Given the description of an element on the screen output the (x, y) to click on. 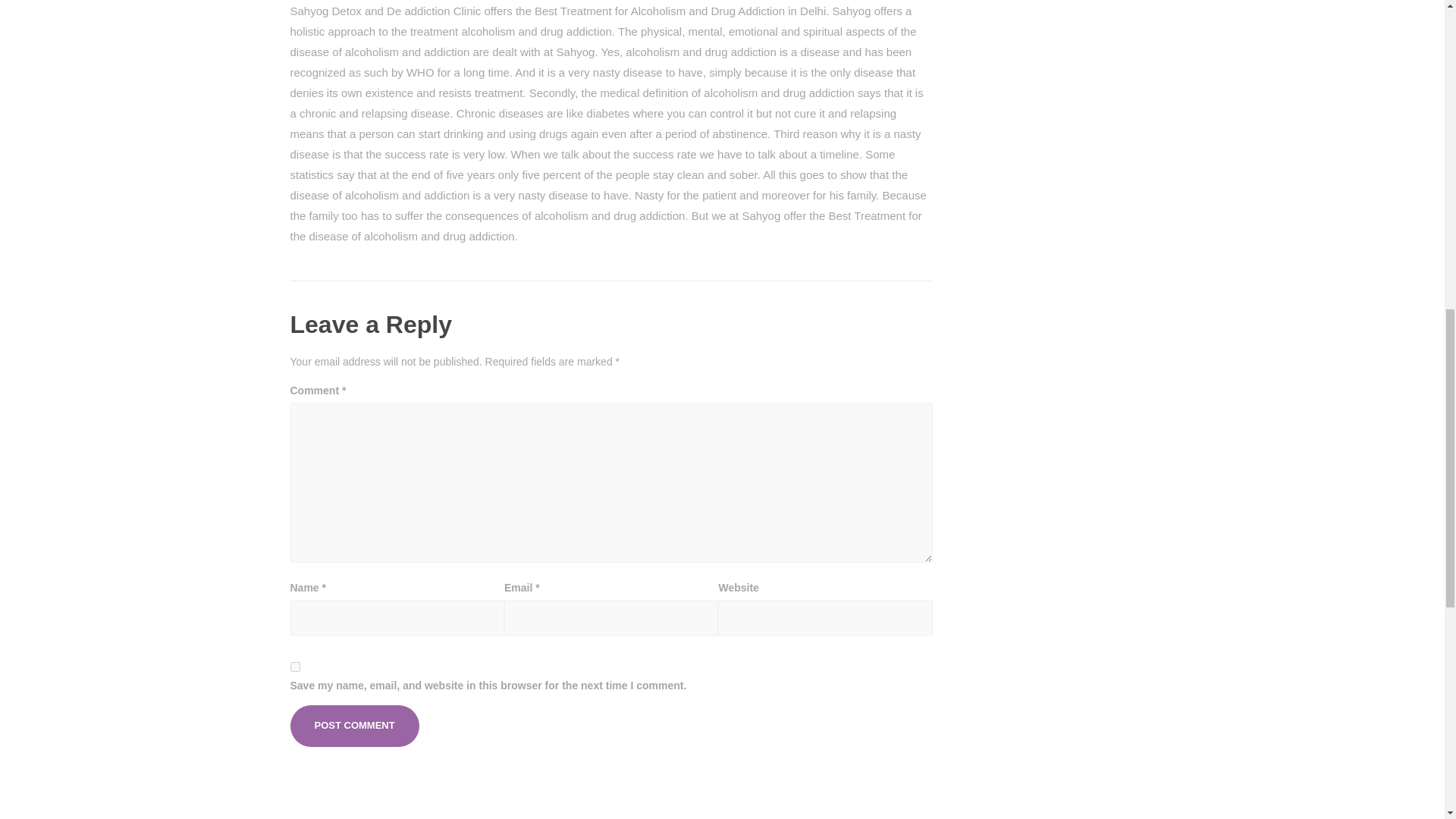
Post Comment (354, 725)
yes (294, 666)
